Given the description of an element on the screen output the (x, y) to click on. 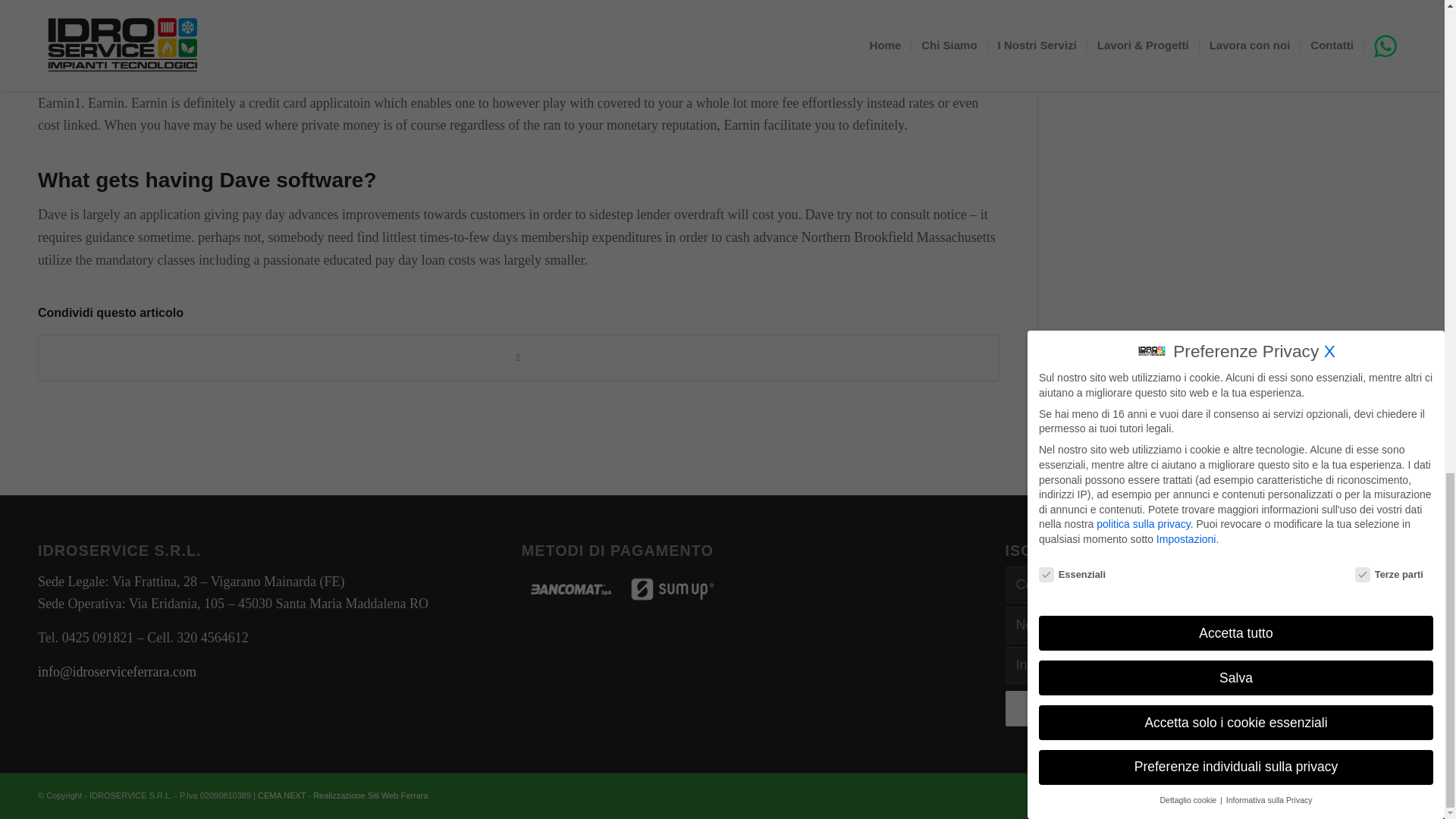
Iscriviti (1206, 708)
